Given the description of an element on the screen output the (x, y) to click on. 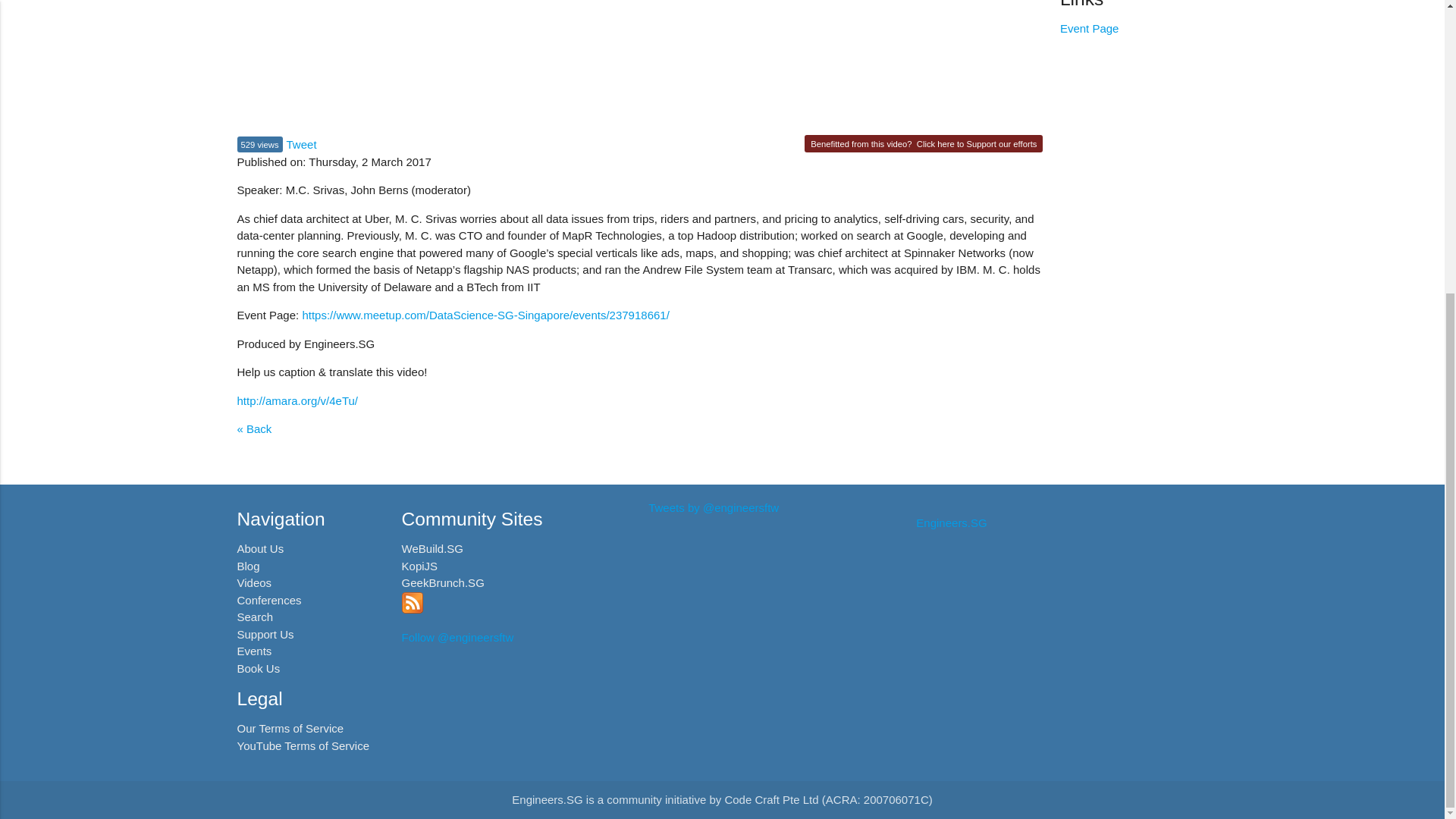
WeBuild.SG (432, 548)
Search (254, 616)
ATOM Feed (412, 608)
Our Terms of Service (289, 727)
Events (252, 650)
Book Us (257, 667)
KopiJS (419, 565)
GeekBrunch.SG (442, 582)
Blog (247, 565)
Click here to Support our efforts (976, 143)
Videos (252, 582)
Conferences (268, 599)
Event Page (1089, 28)
Support Us (264, 634)
YouTube Terms of Service (302, 745)
